Given the description of an element on the screen output the (x, y) to click on. 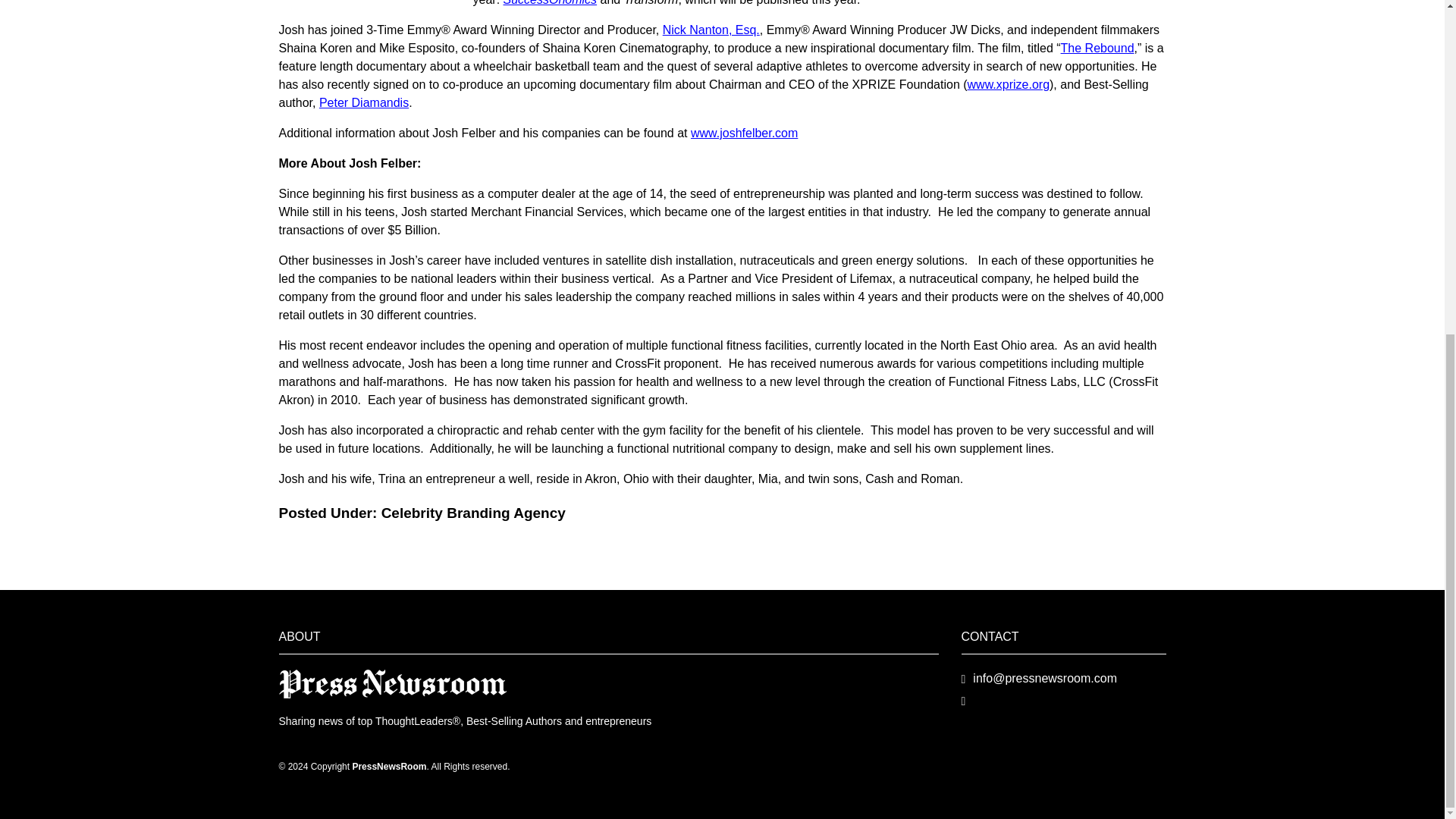
PressNewsRoom (392, 683)
www.xprize.org (1008, 83)
SuccessOnomics (549, 2)
www.joshfelber.com (743, 132)
Celebrity Branding Agency (473, 512)
Peter Diamandis (363, 102)
Nick Nanton, Esq. (711, 29)
The Rebound (1097, 47)
